Given the description of an element on the screen output the (x, y) to click on. 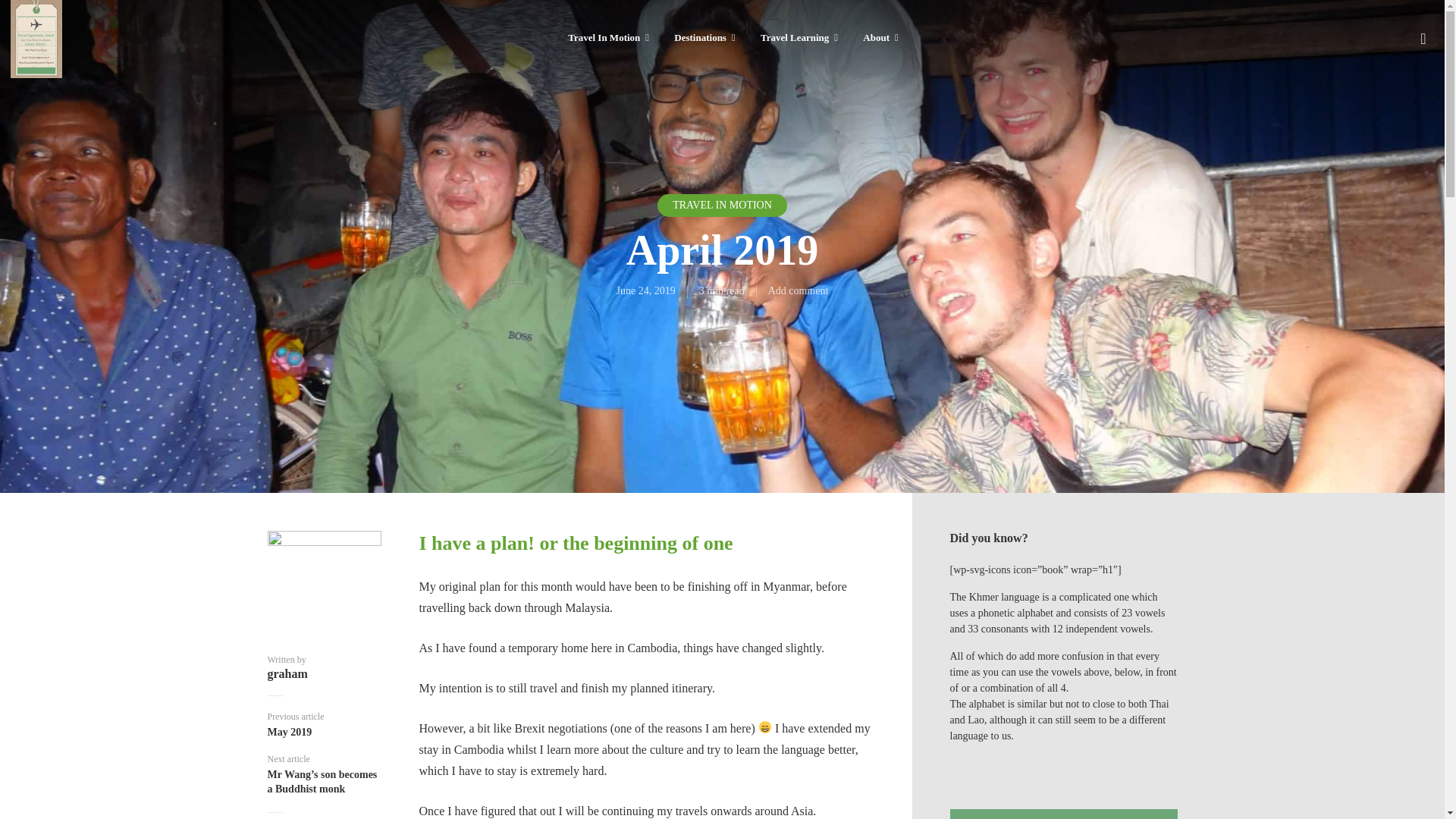
Add comment (798, 290)
Travel In Motion (608, 38)
